Given the description of an element on the screen output the (x, y) to click on. 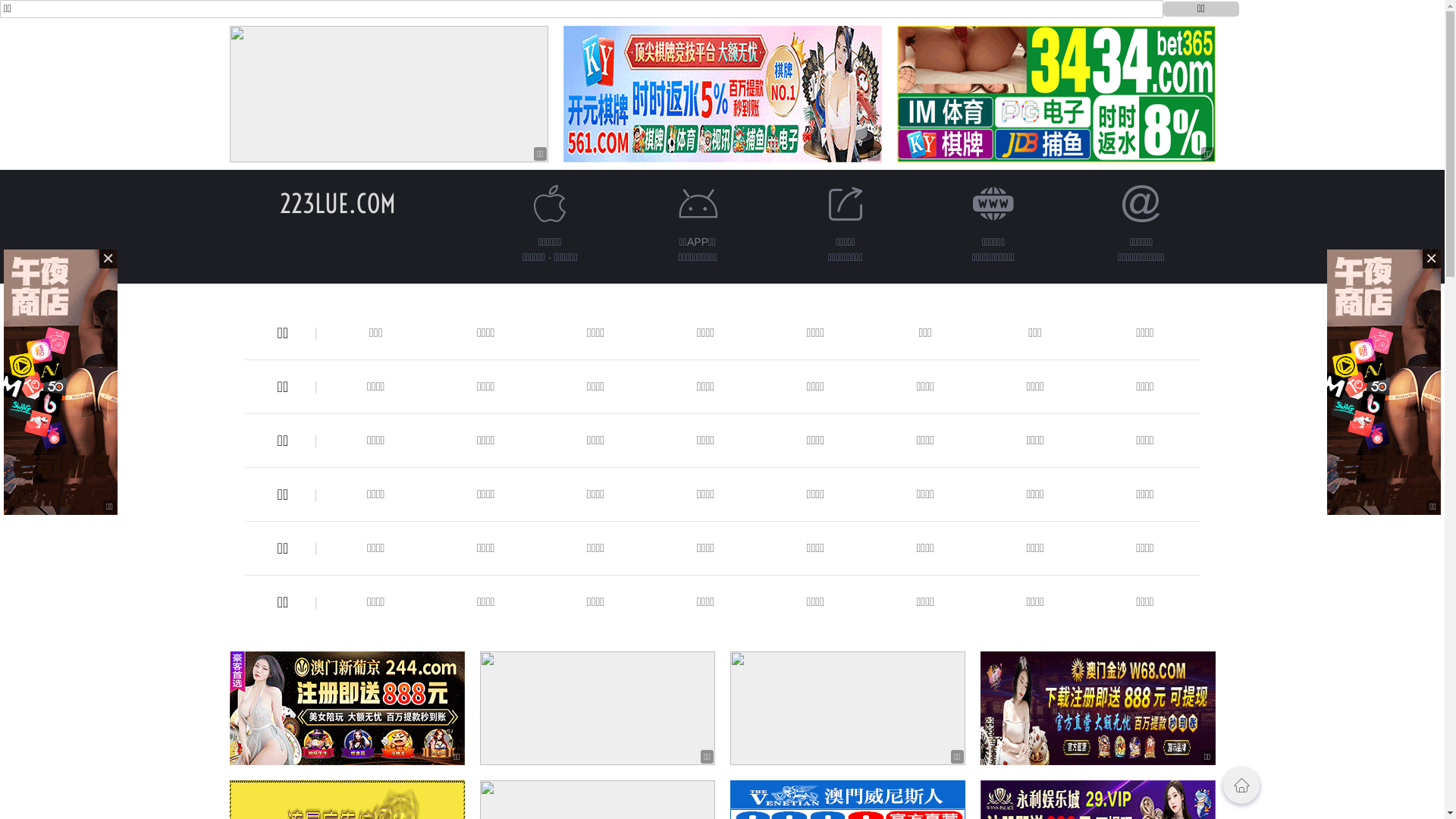
223LUE.COM Element type: text (337, 203)
